Given the description of an element on the screen output the (x, y) to click on. 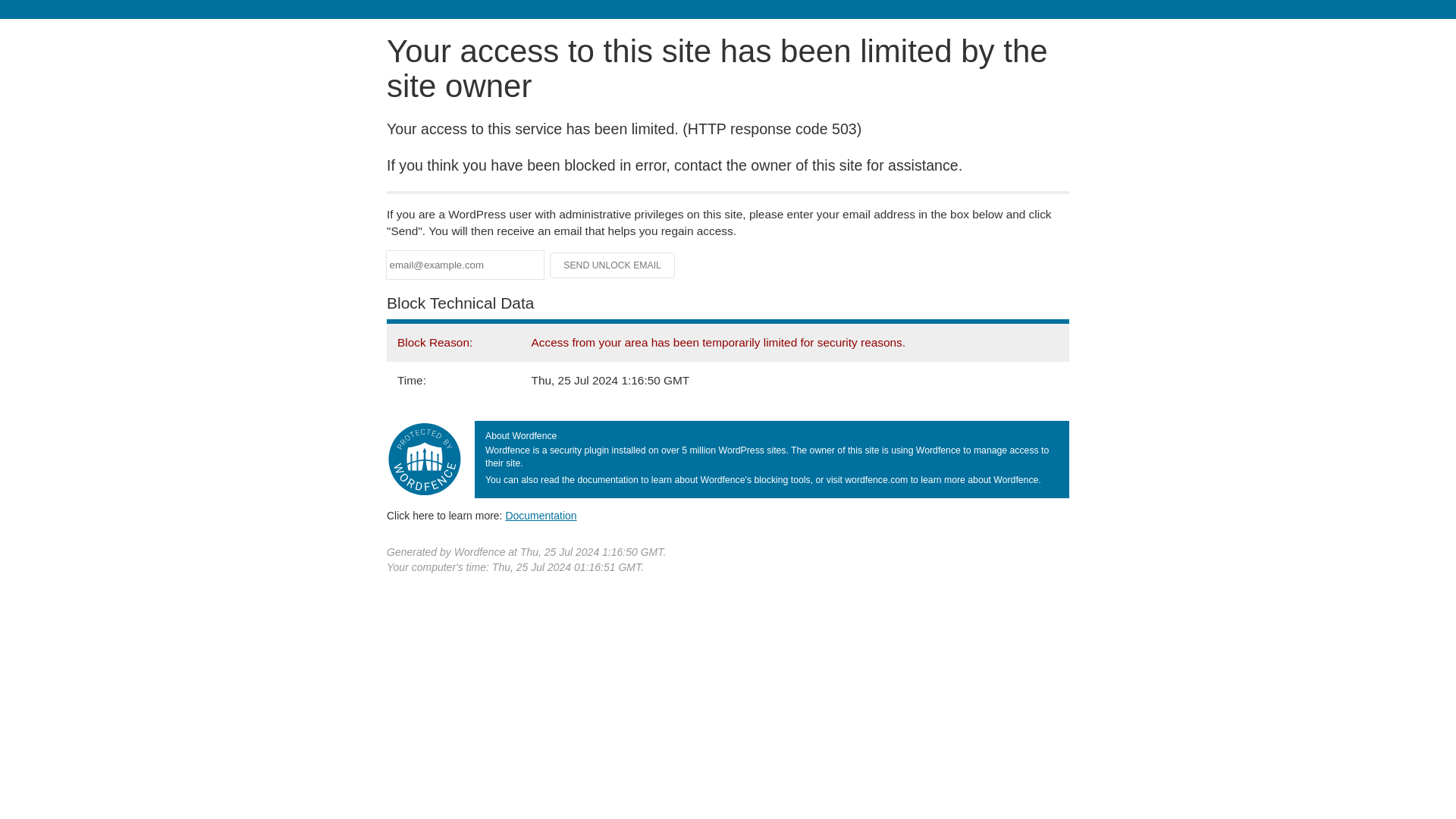
Send Unlock Email (612, 265)
Documentation (540, 515)
Send Unlock Email (612, 265)
